Given the description of an element on the screen output the (x, y) to click on. 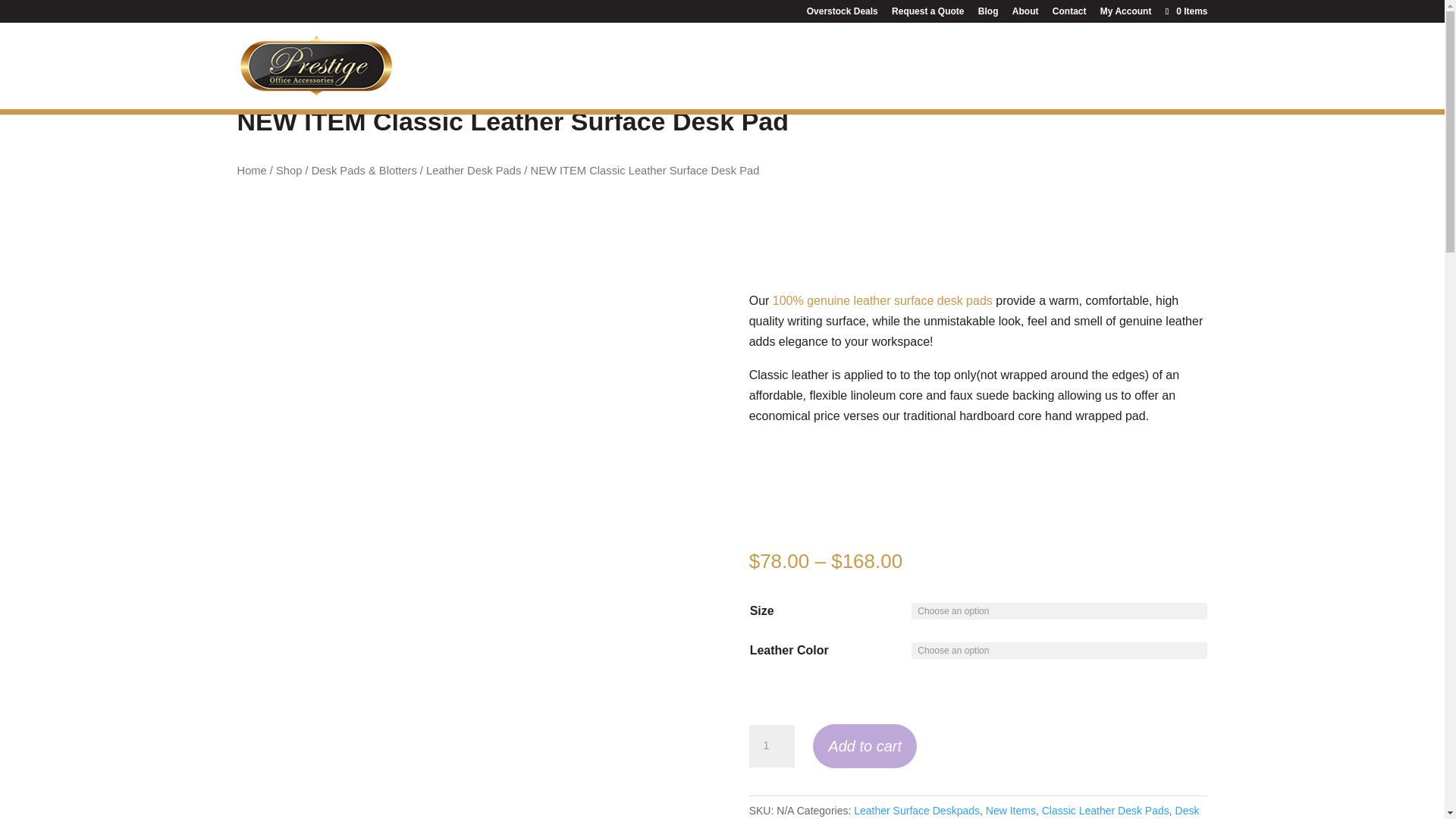
Classic Leather Desk Pads (1105, 810)
Leather Surface Deskpads (916, 810)
Overstock Deals (841, 14)
1 (771, 745)
Shop (288, 170)
0 Items (1184, 10)
Request a Quote (927, 14)
Conference Room Accessories (820, 84)
My Account (1125, 14)
Desk Accessories (644, 84)
